Given the description of an element on the screen output the (x, y) to click on. 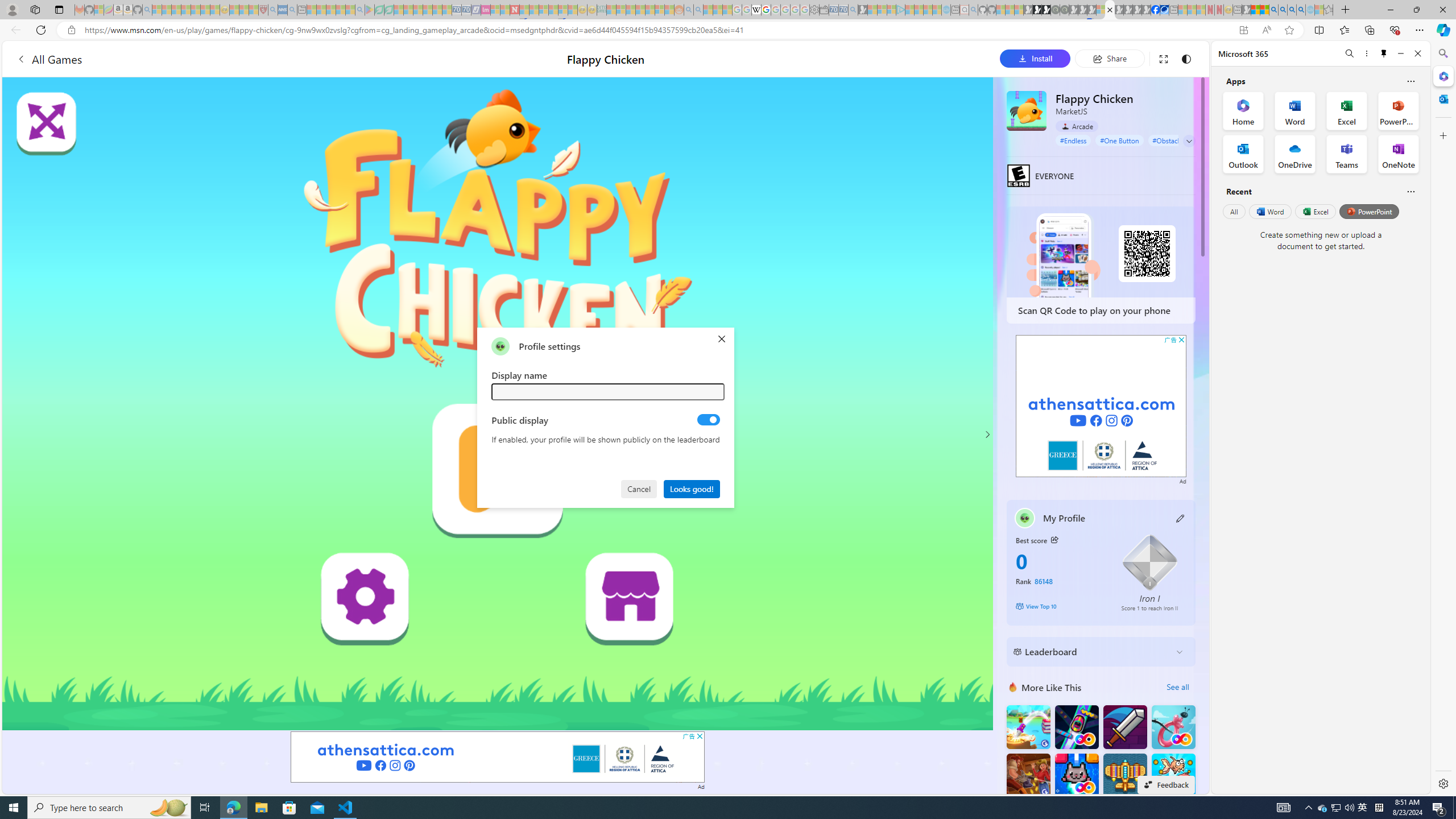
Knife Flip (1028, 726)
2009 Bing officially replaced Live Search on June 3 - Search (1283, 9)
See all (1177, 687)
#Obstacle Course (1178, 140)
Latest Politics News & Archive | Newsweek.com - Sleeping (514, 9)
google - Search - Sleeping (359, 9)
Leaderboard (1091, 651)
EVERYONE (1018, 175)
